Given the description of an element on the screen output the (x, y) to click on. 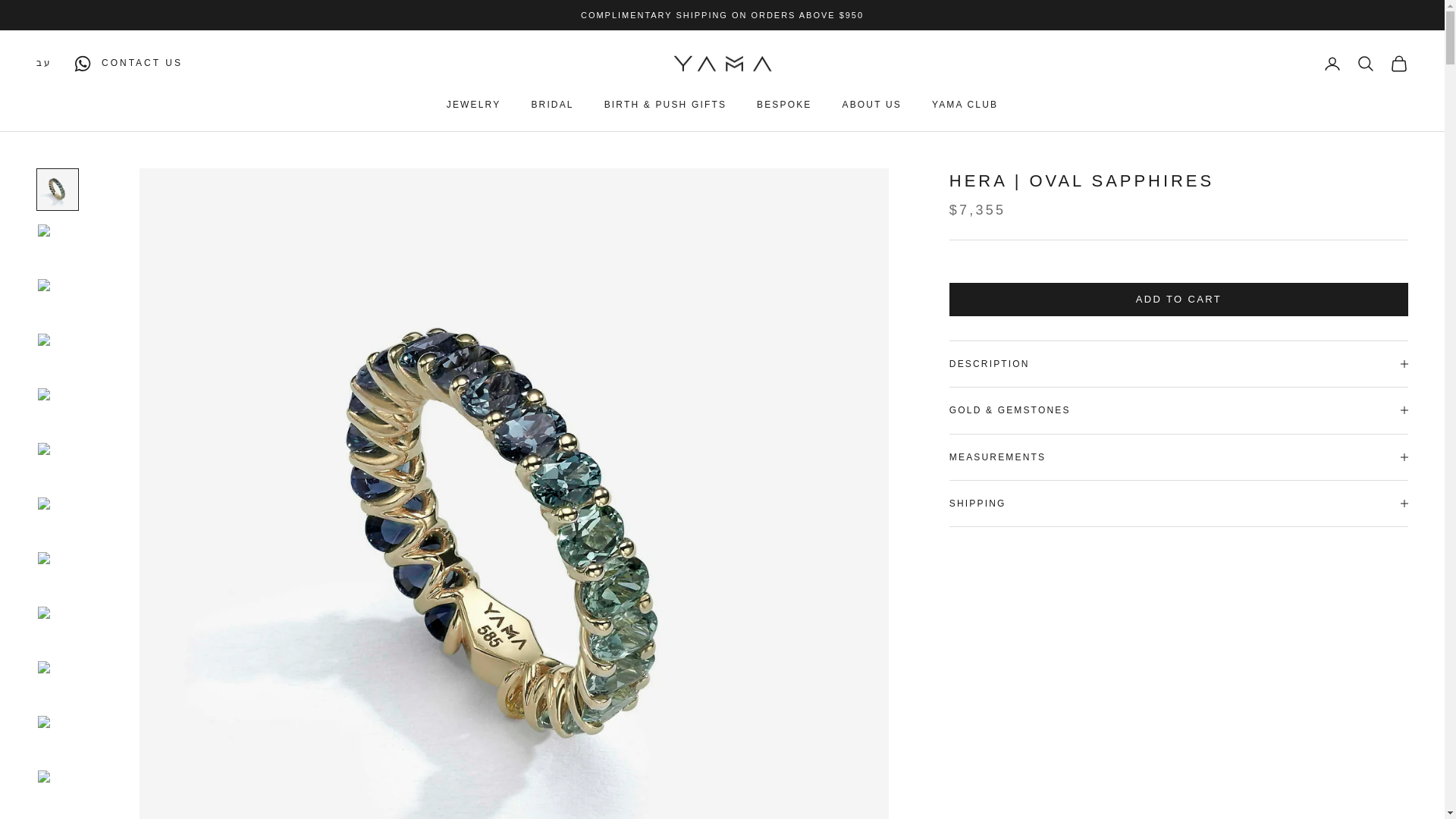
yamajewelry.com (721, 63)
CONTACT US (123, 63)
